Given the description of an element on the screen output the (x, y) to click on. 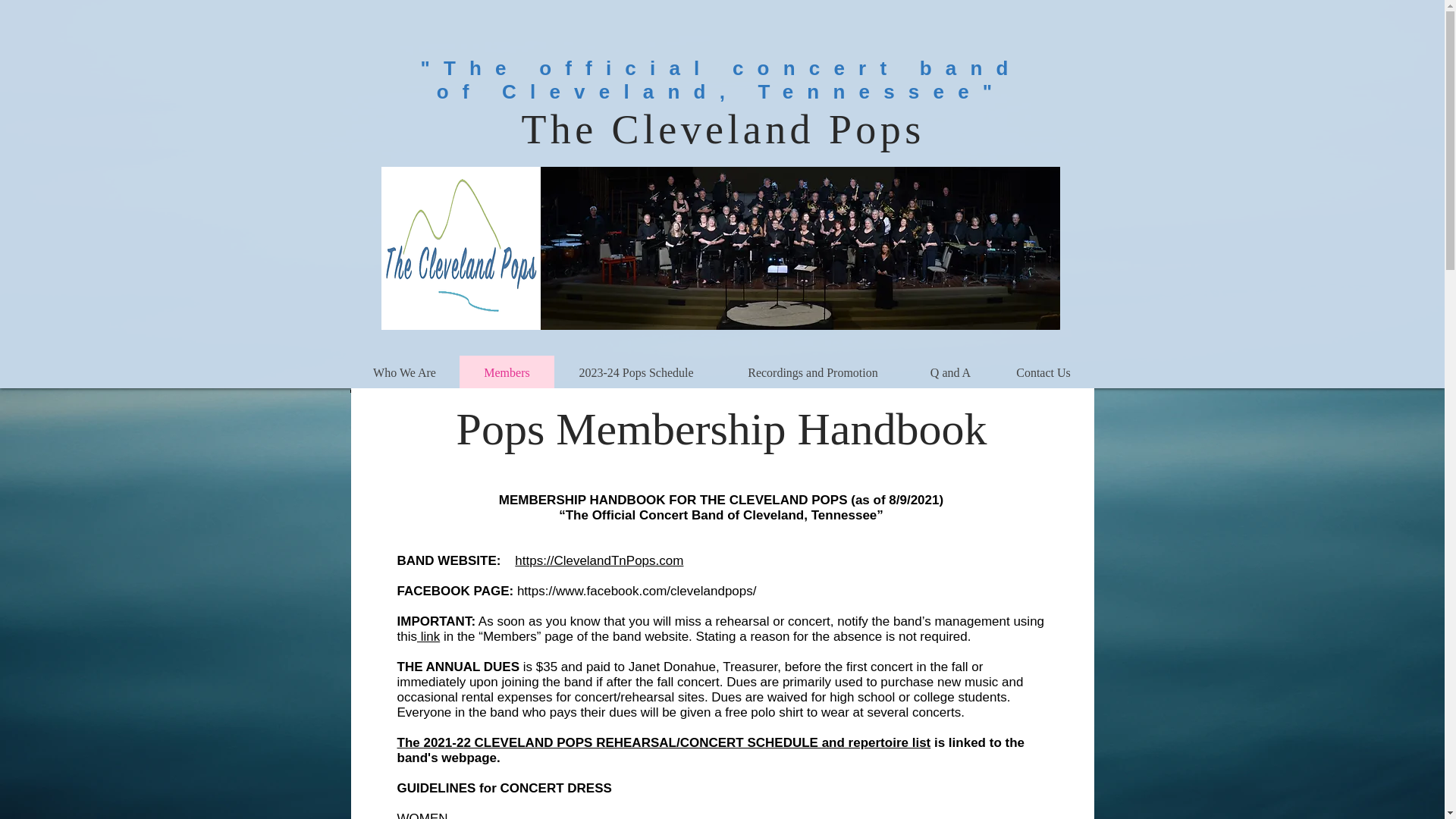
Q and A (949, 372)
Who We Are (405, 372)
 link (427, 636)
Members (507, 372)
Recordings and Promotion (812, 372)
Contact Us (1042, 372)
2023-24 Pops Schedule (635, 372)
